Given the description of an element on the screen output the (x, y) to click on. 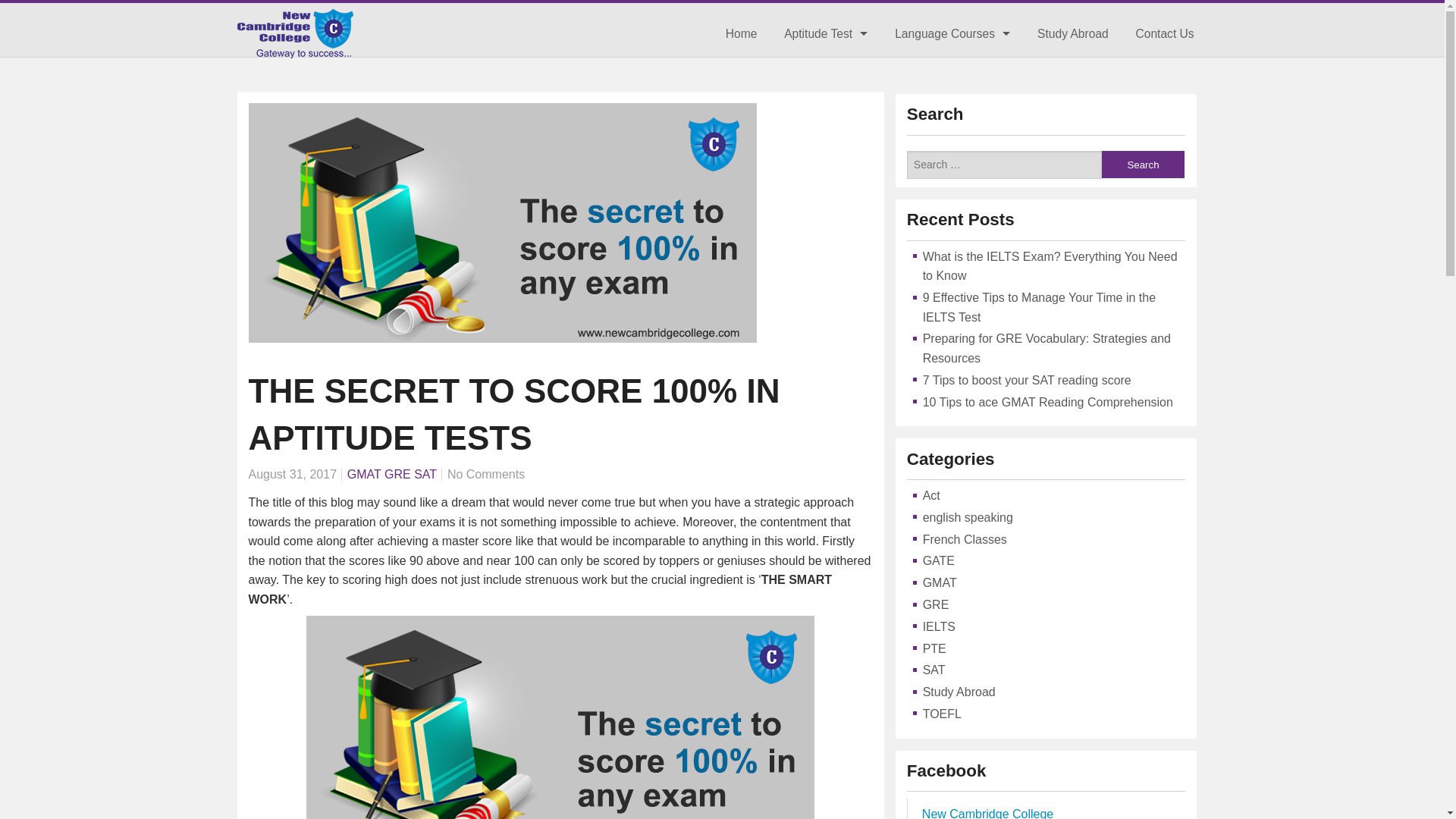
IELTS Coaching (952, 67)
Search (1142, 164)
Aptitude Test (826, 33)
Act (931, 495)
Language Courses (952, 33)
7 Tips to boost your SAT reading score (1027, 379)
GMAT (364, 473)
French Classes (965, 539)
Spoken English (952, 170)
Search (1142, 164)
